Given the description of an element on the screen output the (x, y) to click on. 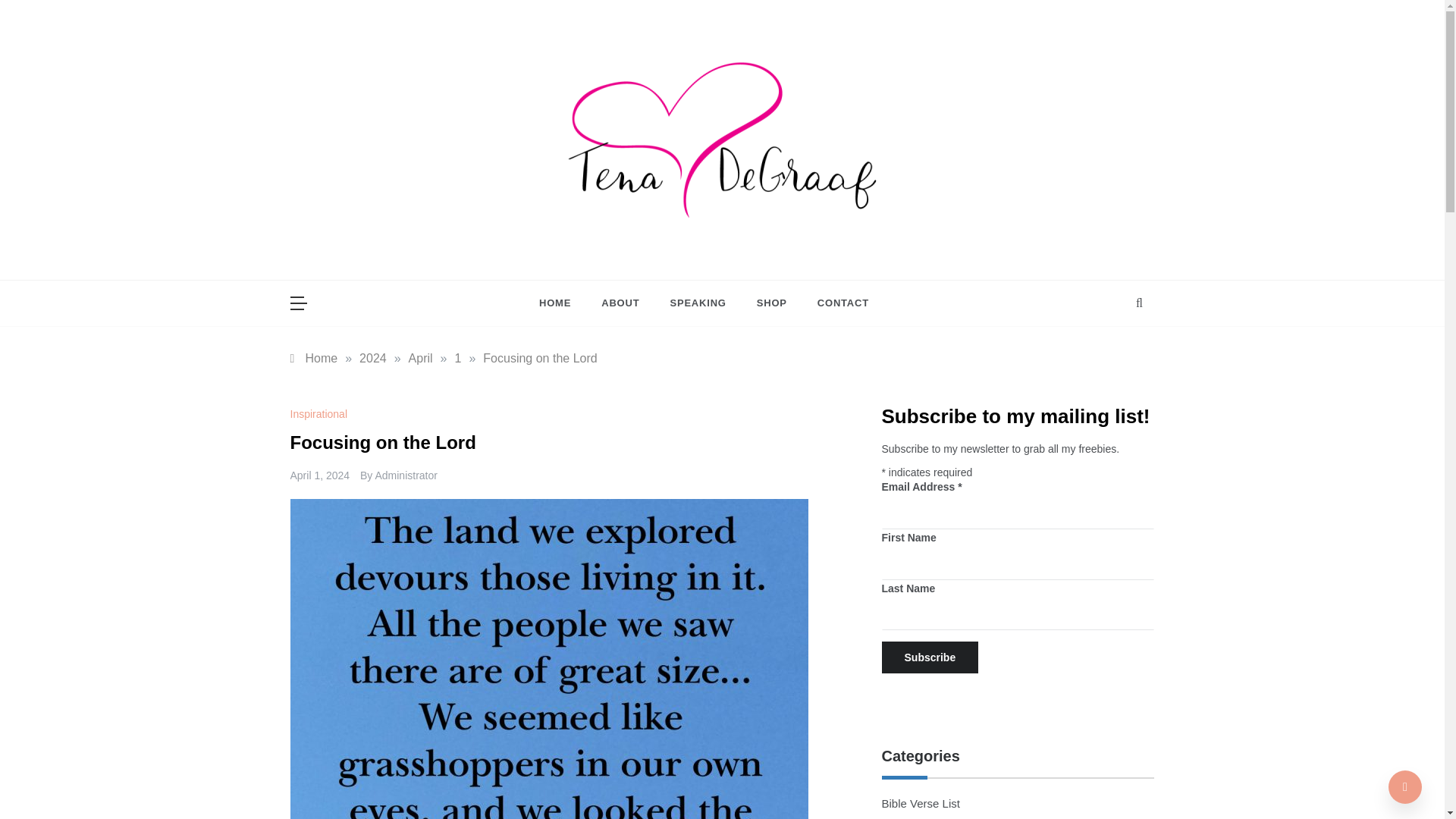
April 1, 2024 (319, 475)
April (420, 358)
SHOP (771, 302)
Home (313, 358)
Administrator (405, 475)
Go to Top (1405, 786)
Inspirational (319, 413)
SPEAKING (697, 302)
ABOUT (619, 302)
Subscribe (929, 657)
